Given the description of an element on the screen output the (x, y) to click on. 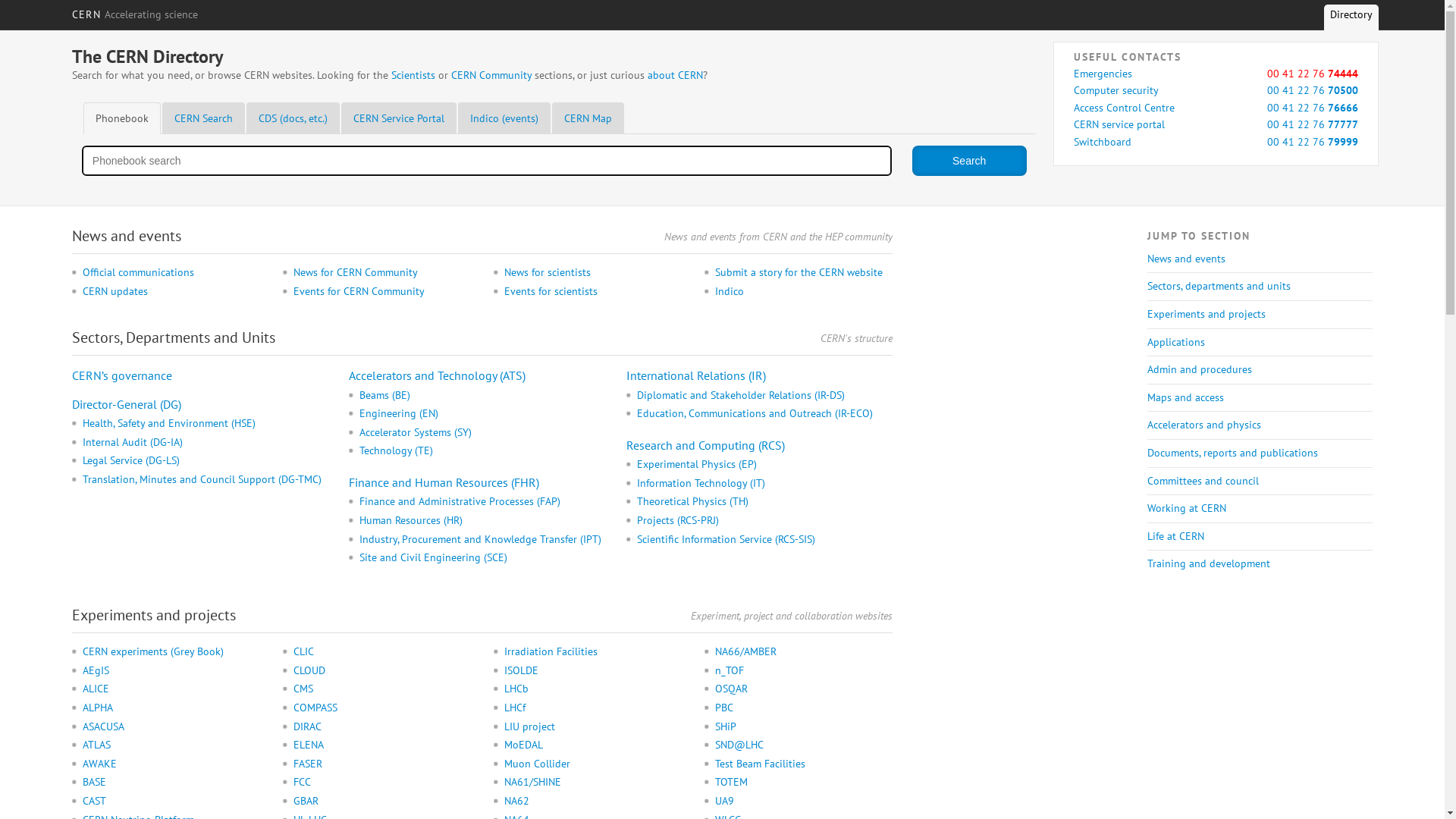
ALPHA Element type: text (171, 707)
News for scientists Element type: text (592, 272)
Applications Element type: text (1259, 342)
CERN updates Element type: text (171, 291)
Health, Safety and Environment (HSE) Element type: text (210, 423)
Industry, Procurement and Knowledge Transfer (IPT) Element type: text (487, 539)
DIRAC Element type: text (381, 726)
Life at CERN Element type: text (1259, 536)
Events for scientists Element type: text (592, 291)
CERN Accelerating science Element type: text (134, 14)
Legal Service (DG-LS) Element type: text (210, 460)
Admin and procedures Element type: text (1259, 369)
CERN service portal
00 41 22 76 77777 Element type: text (1215, 124)
News and events Element type: text (1259, 259)
Information Technology (IT) Element type: text (764, 483)
FASER Element type: text (381, 763)
Finance and Human Resources (FHR) Element type: text (443, 481)
Directory Element type: text (1351, 19)
Switchboard
00 41 22 76 79999 Element type: text (1215, 142)
Indico Element type: text (803, 291)
Projects (RCS-PRJ) Element type: text (764, 520)
UA9 Element type: text (803, 801)
Human Resources (HR) Element type: text (487, 520)
Events for CERN Community Element type: text (381, 291)
Translation, Minutes and Council Support (DG-TMC) Element type: text (210, 479)
CERN Map Element type: text (588, 118)
Research and Computing (RCS) Element type: text (705, 444)
Theoretical Physics (TH) Element type: text (764, 501)
Experiments and projects Element type: text (1259, 314)
NA61/SHINE Element type: text (592, 782)
Test Beam Facilities Element type: text (803, 763)
PBC Element type: text (803, 707)
GBAR Element type: text (381, 801)
Accelerators and physics Element type: text (1259, 425)
TOTEM Element type: text (803, 782)
Accelerators and Technology (ATS) Element type: text (436, 374)
Training and development Element type: text (1259, 563)
Phonebook Element type: text (121, 118)
Indico (events) Element type: text (504, 118)
n_TOF Element type: text (803, 670)
SND@LHC Element type: text (803, 745)
NA66/AMBER Element type: text (803, 651)
Engineering (EN) Element type: text (487, 413)
Site and Civil Engineering (SCE) Element type: text (487, 557)
CERN experiments (Grey Book) Element type: text (171, 651)
Emergencies
00 41 22 76 74444 Element type: text (1215, 73)
Scientists Element type: text (413, 74)
Irradiation Facilities Element type: text (592, 651)
Submit a story for the CERN website Element type: text (803, 272)
Documents, reports and publications Element type: text (1259, 453)
Director-General (DG) Element type: text (126, 403)
CLIC Element type: text (381, 651)
Experimental Physics (EP) Element type: text (764, 464)
Scientific Information Service (RCS-SIS) Element type: text (764, 539)
ISOLDE Element type: text (592, 670)
Search Element type: text (969, 160)
OSQAR Element type: text (803, 688)
CERN Community Element type: text (491, 74)
Muon Collider Element type: text (592, 763)
LIU project Element type: text (592, 726)
CERN Service Portal Element type: text (398, 118)
News for CERN Community Element type: text (381, 272)
Accelerator Systems (SY) Element type: text (487, 432)
AEgIS Element type: text (171, 670)
CLOUD Element type: text (381, 670)
ELENA Element type: text (381, 745)
AWAKE Element type: text (171, 763)
about CERN Element type: text (674, 74)
International Relations (IR) Element type: text (695, 374)
BASE Element type: text (171, 782)
COMPASS Element type: text (381, 707)
MoEDAL Element type: text (592, 745)
Access Control Centre
00 41 22 76 76666 Element type: text (1215, 108)
Maps and access Element type: text (1259, 397)
FCC Element type: text (381, 782)
ALICE Element type: text (171, 688)
Committees and council Element type: text (1259, 481)
SHiP Element type: text (803, 726)
CMS Element type: text (381, 688)
CAST Element type: text (171, 801)
Finance and Administrative Processes (FAP) Element type: text (487, 501)
CERN Search Element type: text (203, 118)
Education, Communications and Outreach (IR-ECO) Element type: text (764, 413)
CDS (docs, etc.) Element type: text (292, 118)
ASACUSA Element type: text (171, 726)
Computer security
00 41 22 76 70500 Element type: text (1215, 90)
Technology (TE) Element type: text (487, 450)
Working at CERN Element type: text (1259, 508)
Official communications Element type: text (171, 272)
Beams (BE) Element type: text (487, 395)
Internal Audit (DG-IA) Element type: text (210, 442)
LHCb Element type: text (592, 688)
NA62 Element type: text (592, 801)
LHCf Element type: text (592, 707)
ATLAS Element type: text (171, 745)
Diplomatic and Stakeholder Relations (IR-DS) Element type: text (764, 395)
Sectors, departments and units Element type: text (1259, 286)
